Given the description of an element on the screen output the (x, y) to click on. 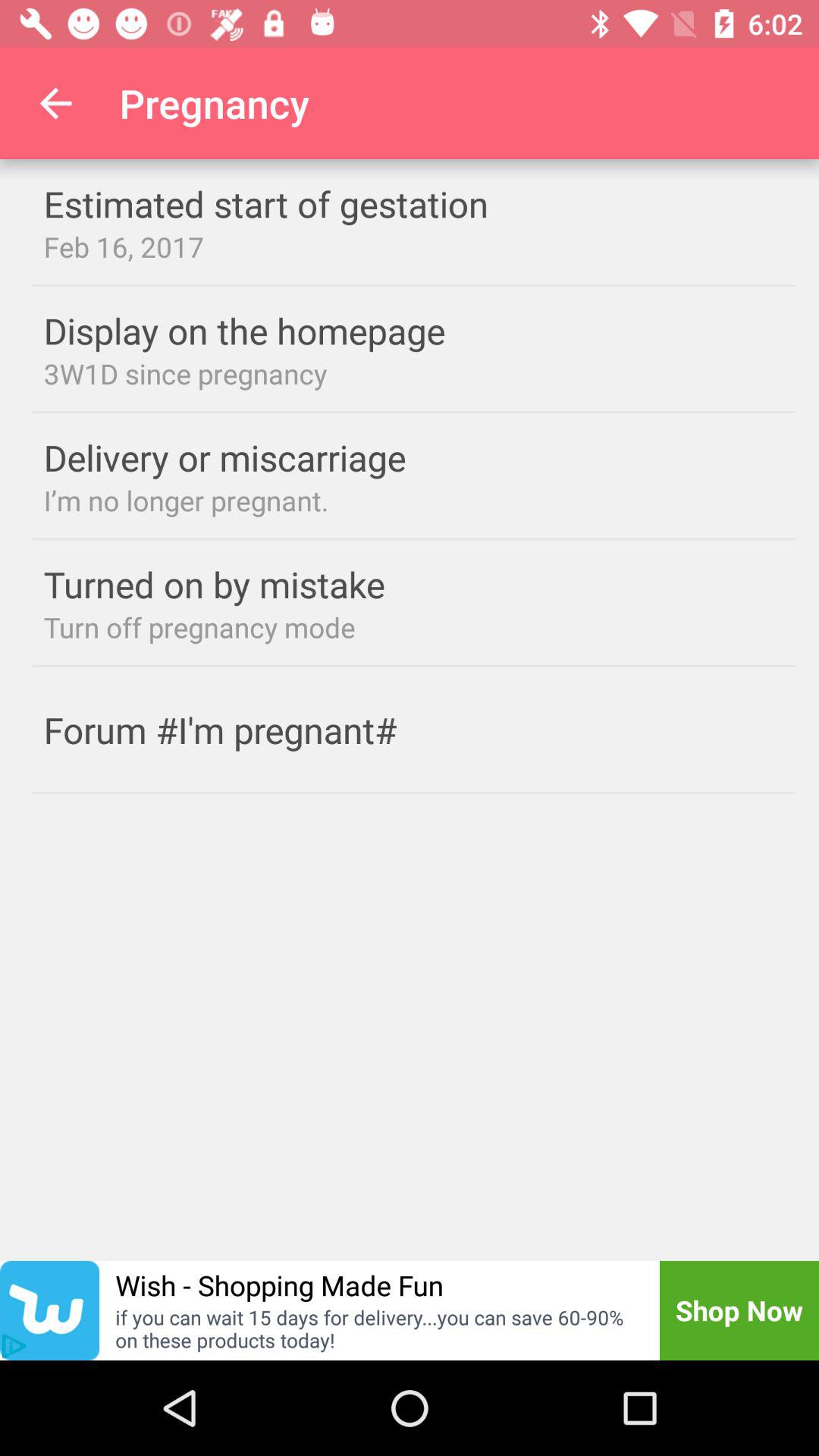
open wish app (49, 1310)
